Given the description of an element on the screen output the (x, y) to click on. 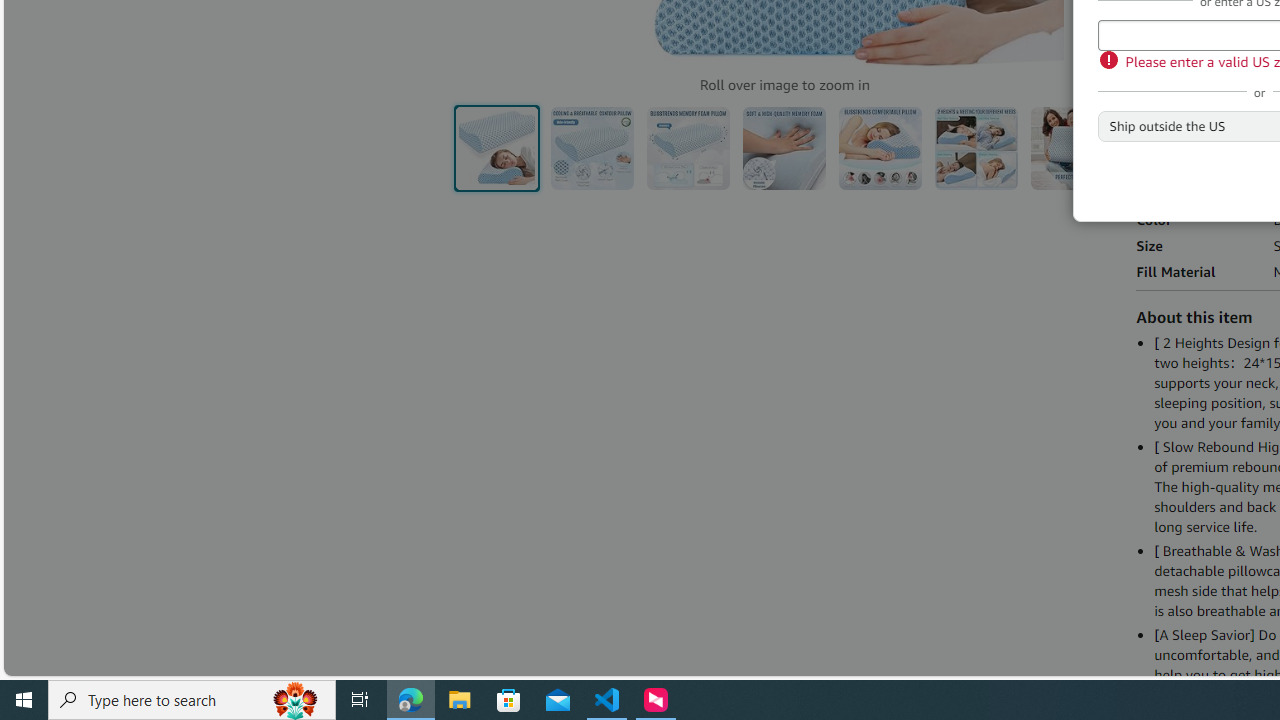
Standard (1178, 123)
Pink (1252, 42)
Grey (1204, 42)
Blue (1156, 41)
Grey (1204, 42)
Pink (1252, 42)
Blue (1156, 41)
